Given the description of an element on the screen output the (x, y) to click on. 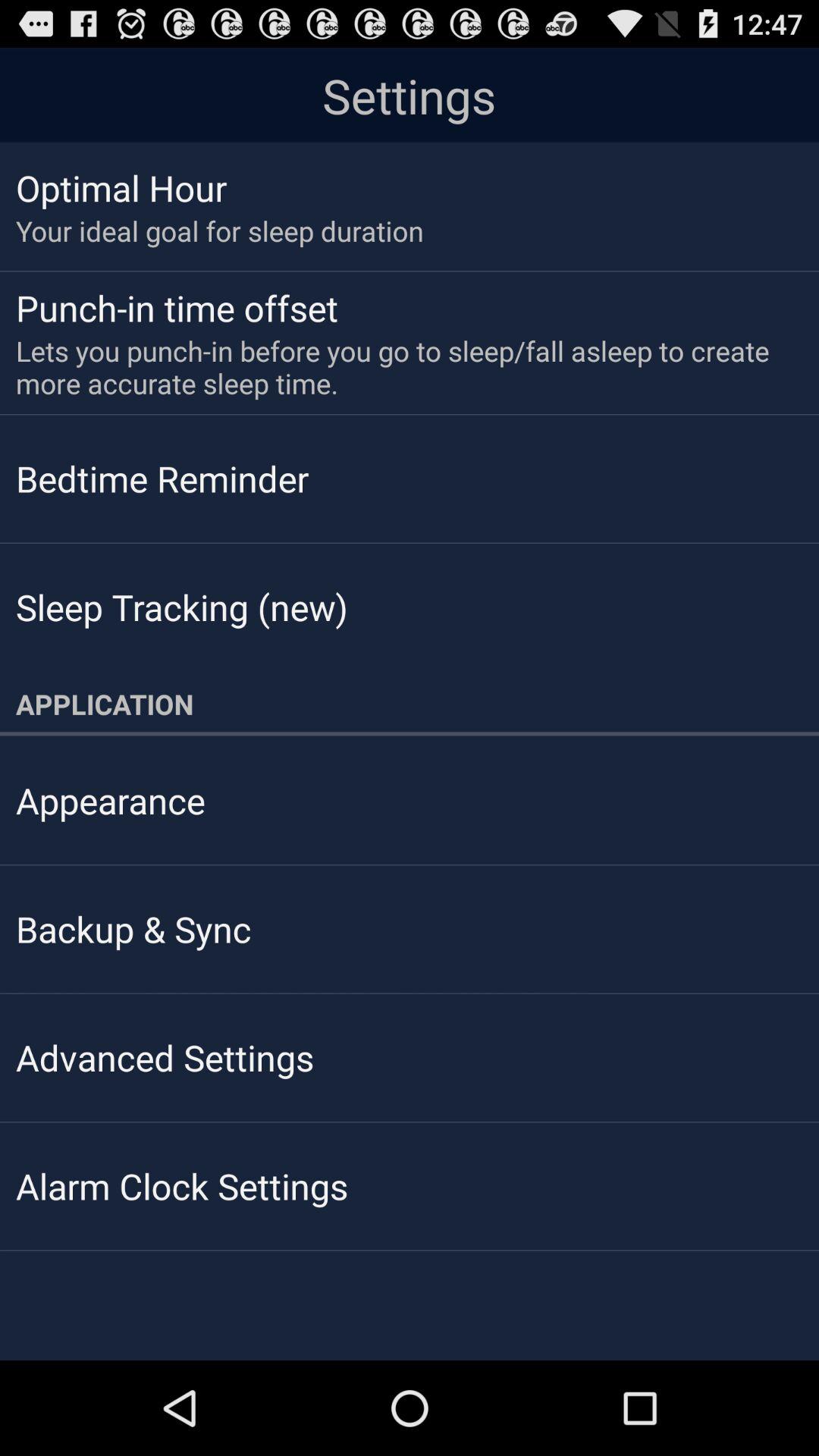
launch item above the appearance item (409, 703)
